Given the description of an element on the screen output the (x, y) to click on. 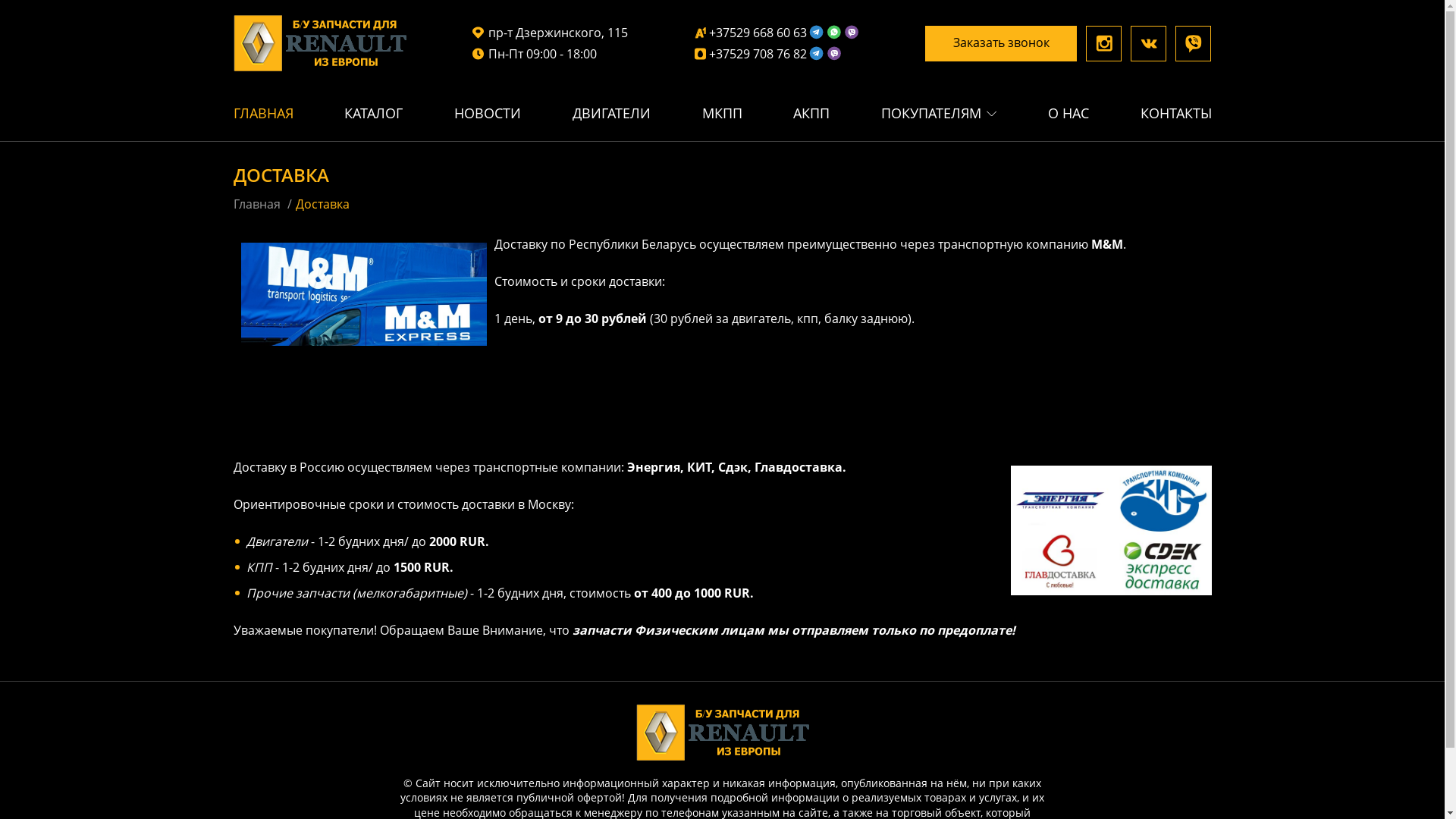
+37529 668 60 63 Element type: text (776, 32)
+37529 708 76 82 Element type: text (776, 53)
